Given the description of an element on the screen output the (x, y) to click on. 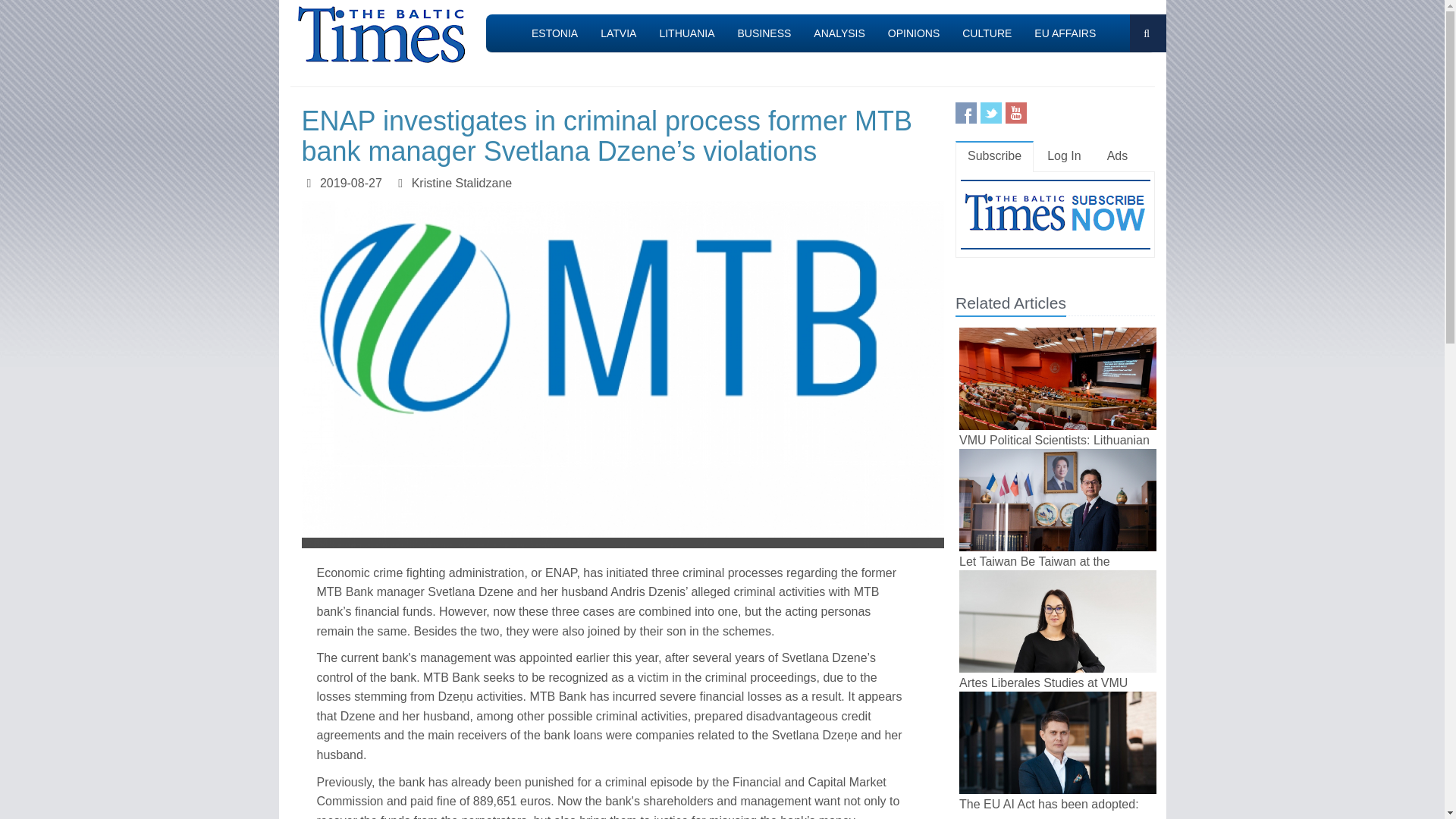
Subscribe (994, 155)
LITHUANIA (686, 33)
CULTURE (986, 33)
ANALYSIS (839, 33)
OPINIONS (913, 33)
ESTONIA (554, 33)
BUSINESS (764, 33)
LATVIA (618, 33)
